Given the description of an element on the screen output the (x, y) to click on. 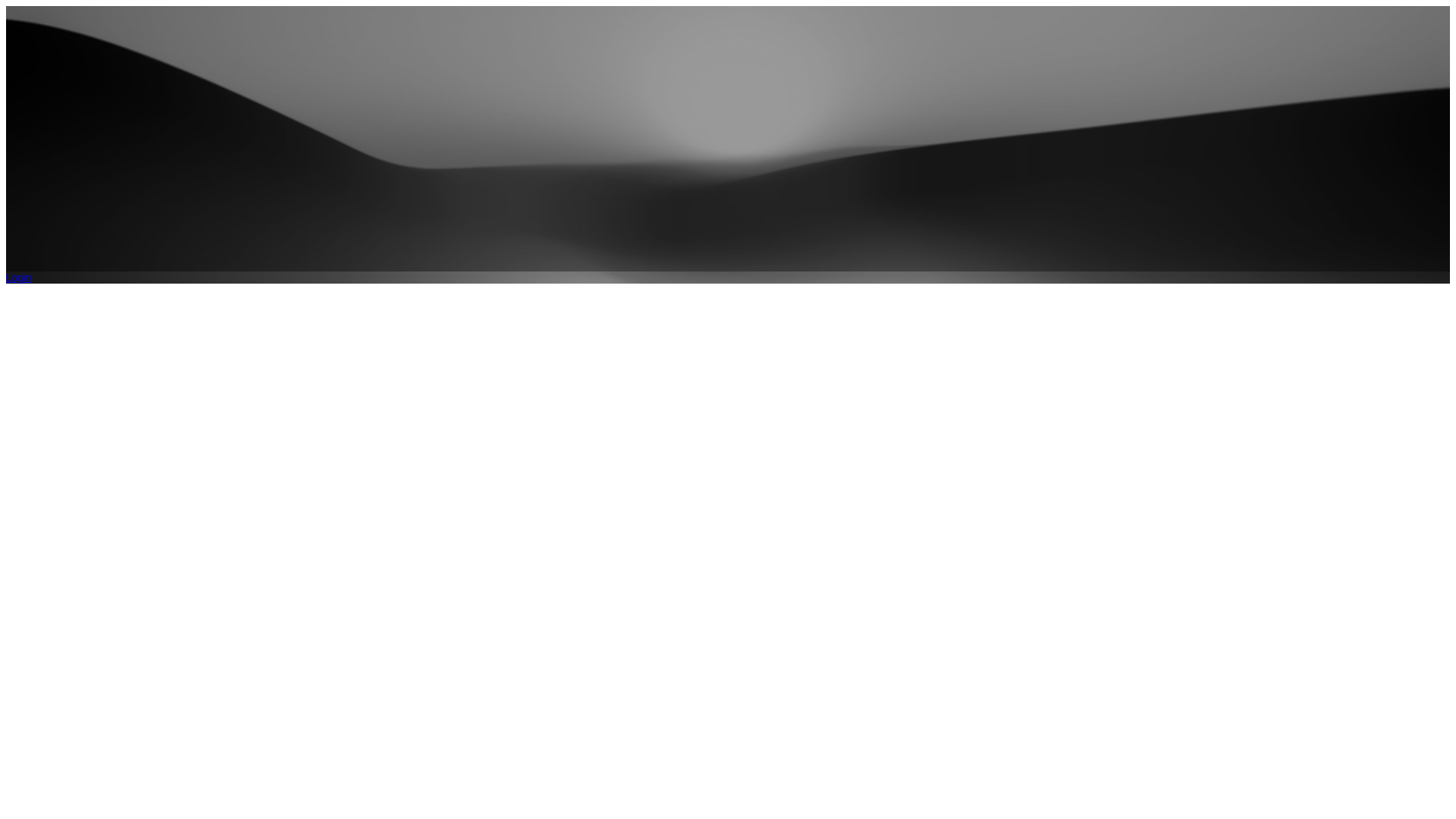
Login Element type: text (18, 277)
